Given the description of an element on the screen output the (x, y) to click on. 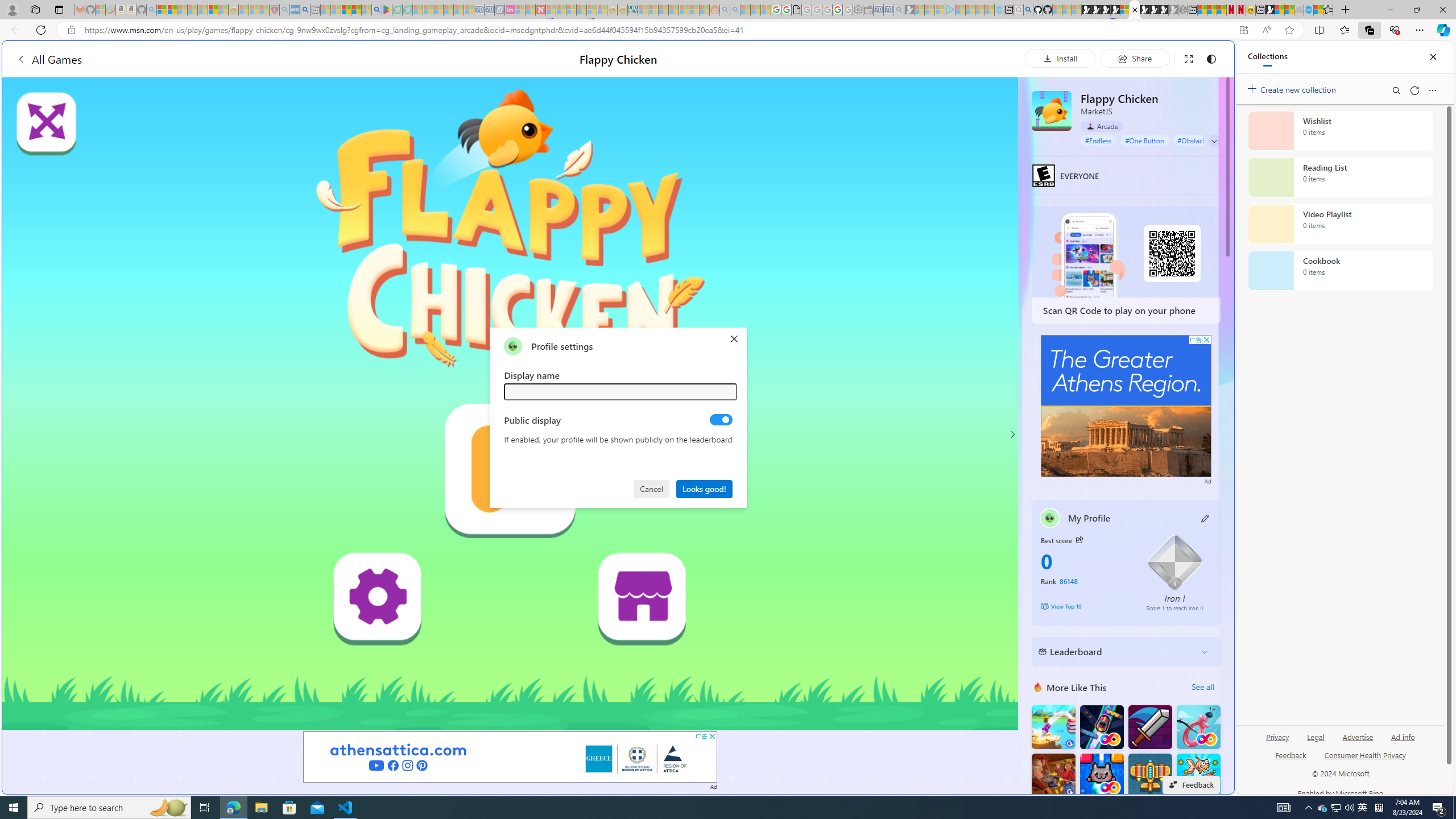
More options menu (1432, 90)
Wishlist collection, 0 items (1339, 130)
Bluey: Let's Play! - Apps on Google Play (387, 9)
